Given the description of an element on the screen output the (x, y) to click on. 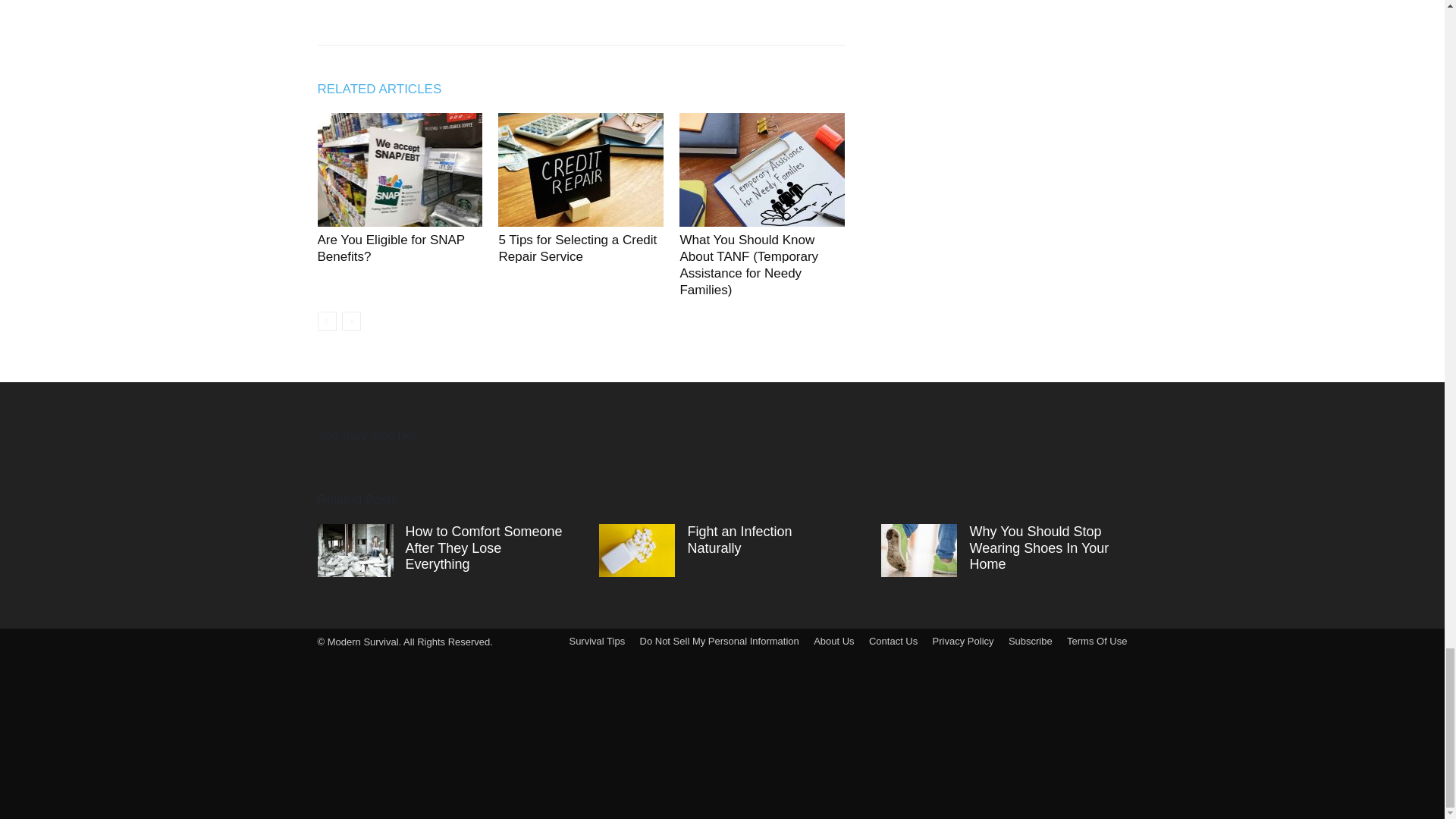
Are You Eligible for SNAP Benefits? (390, 247)
RELATED ARTICLES (387, 88)
5 Tips for Selecting a Credit Repair Service (576, 247)
Are You Eligible for SNAP Benefits? (399, 169)
5 Tips for Selecting a Credit Repair Service (576, 247)
5 Tips for Selecting a Credit Repair Service (580, 169)
Are You Eligible for SNAP Benefits? (390, 247)
